Given the description of an element on the screen output the (x, y) to click on. 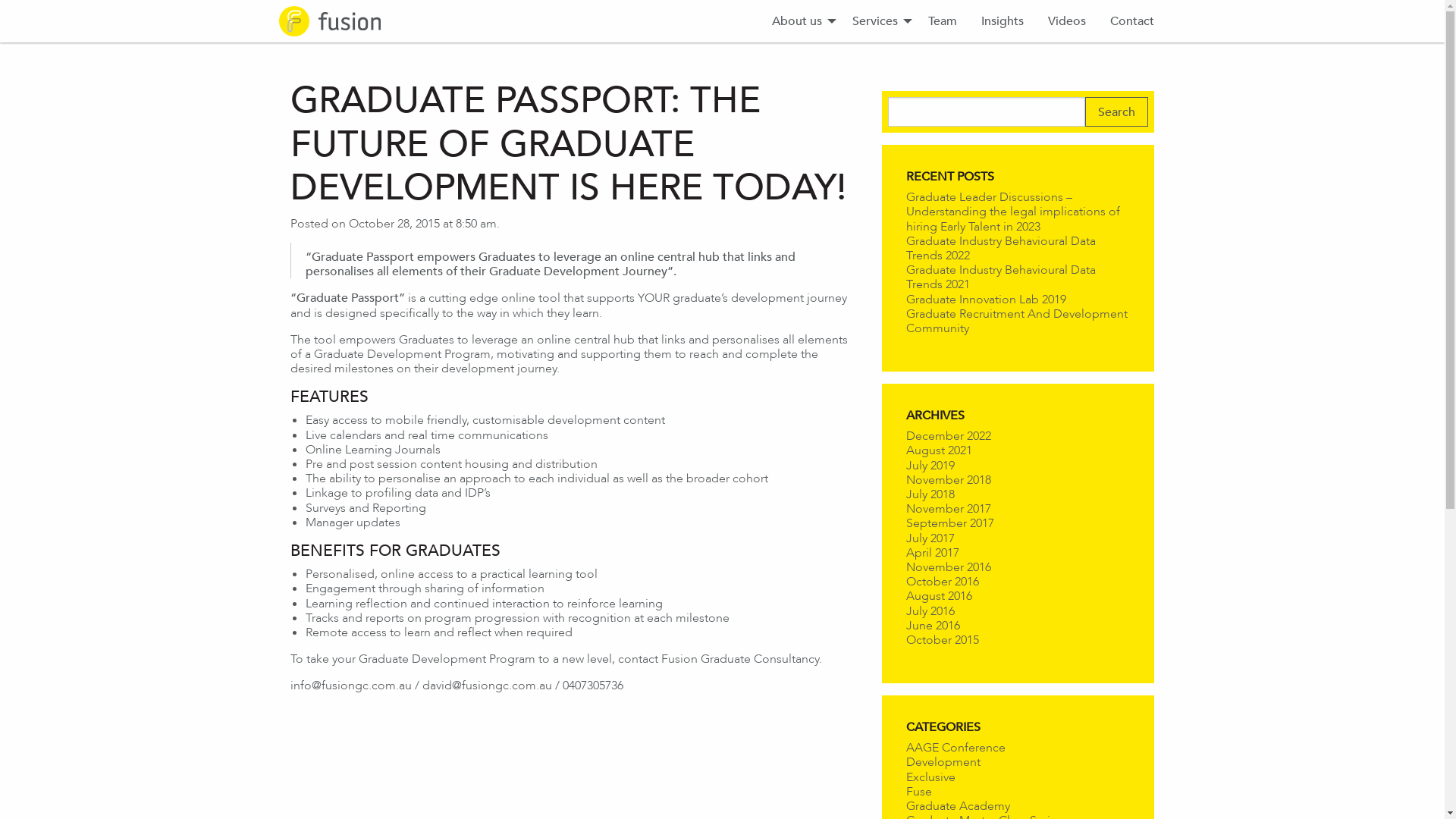
Fuse Element type: text (918, 791)
July 2018 Element type: text (929, 494)
Graduate Innovation Lab 2019 Element type: text (985, 299)
About us Element type: text (799, 21)
April 2017 Element type: text (931, 552)
Development Element type: text (942, 761)
0407305736 Element type: text (592, 685)
AAGE Conference Element type: text (954, 747)
November 2018 Element type: text (947, 479)
November 2016 Element type: text (947, 566)
Contact Element type: text (1132, 21)
August 2016 Element type: text (938, 595)
Graduate Industry Behavioural Data Trends 2021 Element type: text (1000, 276)
December 2022 Element type: text (947, 435)
August 2021 Element type: text (938, 450)
October 2015 Element type: text (941, 639)
November 2017 Element type: text (947, 508)
July 2019 Element type: text (929, 465)
Graduate Academy Element type: text (957, 805)
September 2017 Element type: text (949, 522)
Insights Element type: text (1002, 21)
Graduate Recruitment And Development Community Element type: text (1015, 320)
Team Element type: text (942, 21)
October 2016 Element type: text (941, 581)
Exclusive Element type: text (929, 776)
Graduate Industry Behavioural Data Trends 2022 Element type: text (1000, 247)
June 2016 Element type: text (932, 625)
Videos Element type: text (1066, 21)
Services Element type: text (878, 21)
info@fusiongc.com.au Element type: text (350, 685)
Search Element type: text (1116, 111)
david@fusiongc.com.au Element type: text (486, 685)
July 2016 Element type: text (929, 610)
July 2017 Element type: text (929, 538)
